Given the description of an element on the screen output the (x, y) to click on. 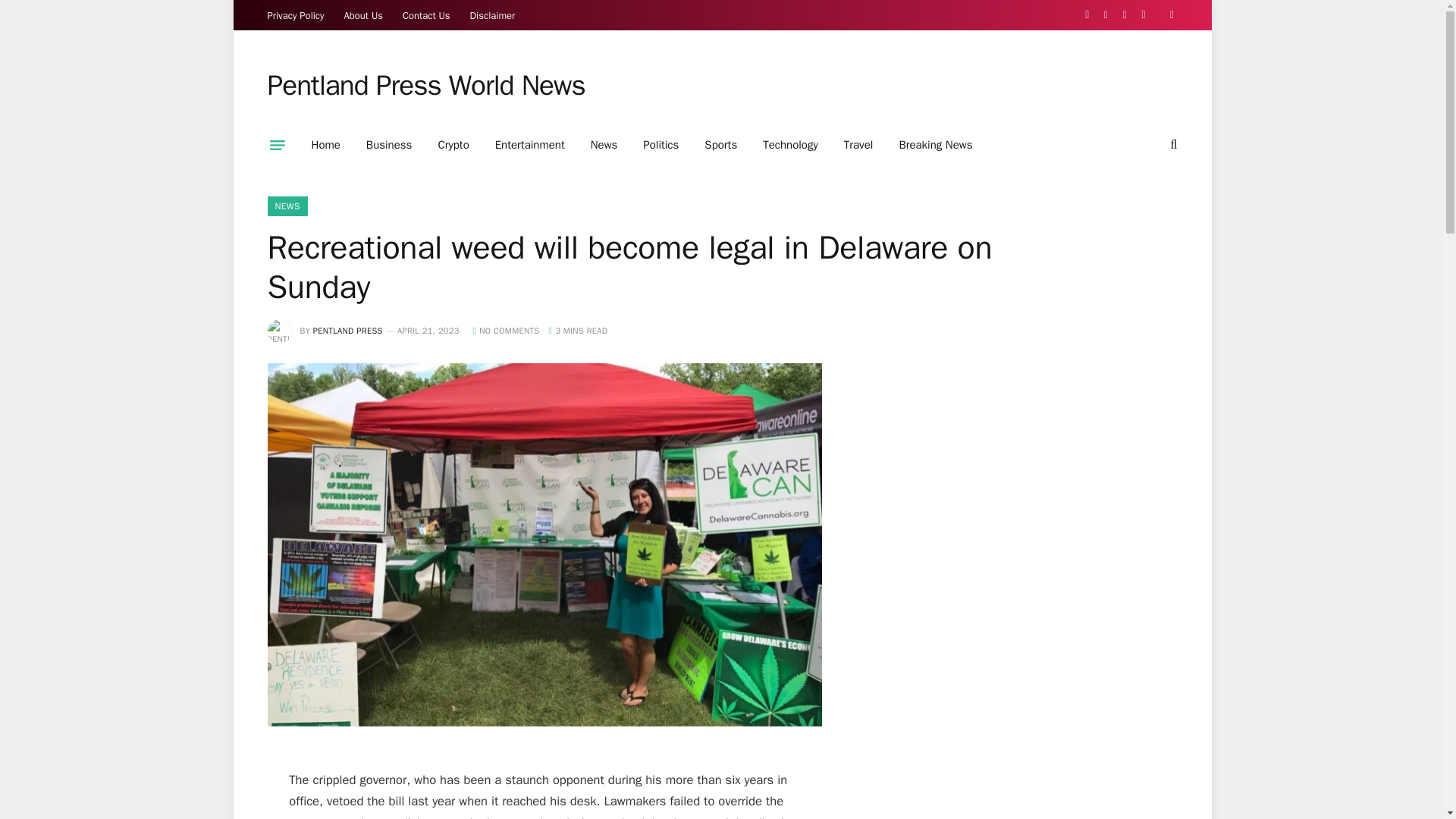
Sports (720, 144)
Technology (790, 144)
Politics (660, 144)
Disclaimer (492, 15)
Pentland Press World News (425, 85)
Contact Us (426, 15)
Breaking News (935, 144)
Pentland Press World News (425, 85)
Privacy Policy (295, 15)
Travel (858, 144)
News (604, 144)
Crypto (453, 144)
Posts by Pentland Press (347, 330)
Entertainment (529, 144)
